Given the description of an element on the screen output the (x, y) to click on. 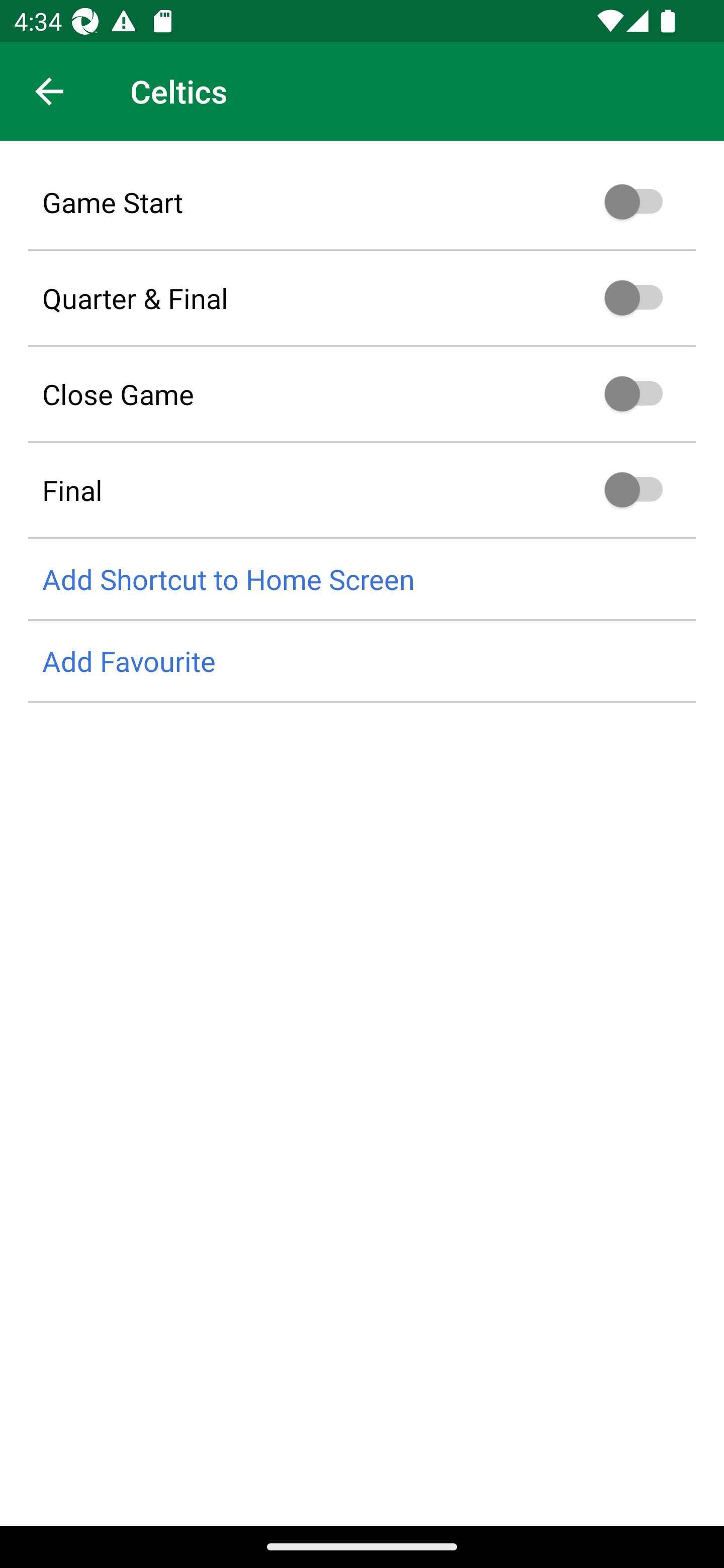
Navigate up (49, 91)
Add Shortcut to Home Screen (362, 579)
Add Favourite (362, 661)
